Given the description of an element on the screen output the (x, y) to click on. 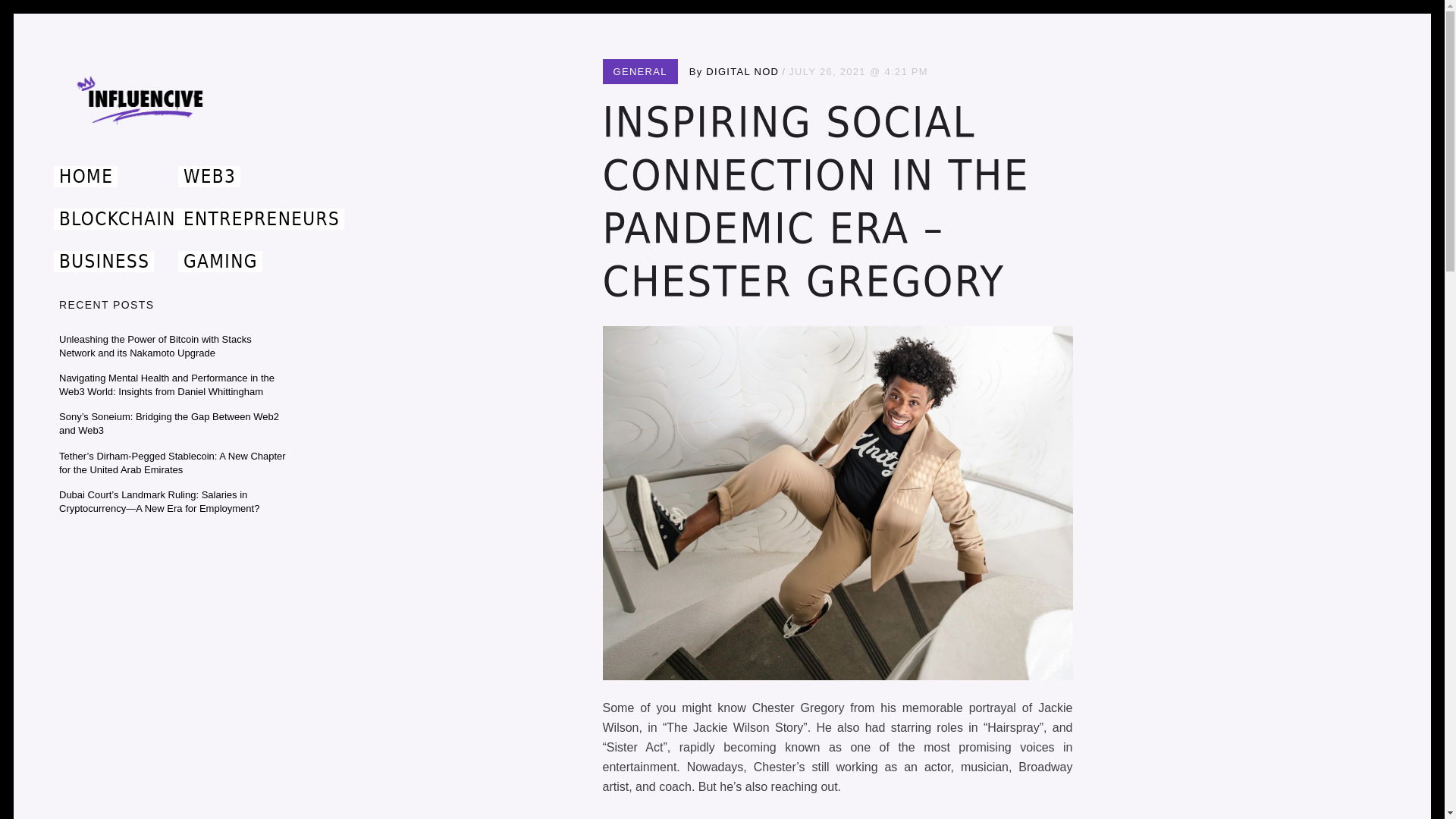
GENERAL (639, 71)
INFLUENCIVE (142, 158)
DIGITAL NOD (742, 71)
BLOCKCHAIN (116, 219)
GAMING (219, 260)
ENTREPRENEURS (260, 219)
JULY 26, 20214:21 PM (858, 71)
BUSINESS (103, 260)
WEB3 (208, 176)
HOME (85, 176)
